Given the description of an element on the screen output the (x, y) to click on. 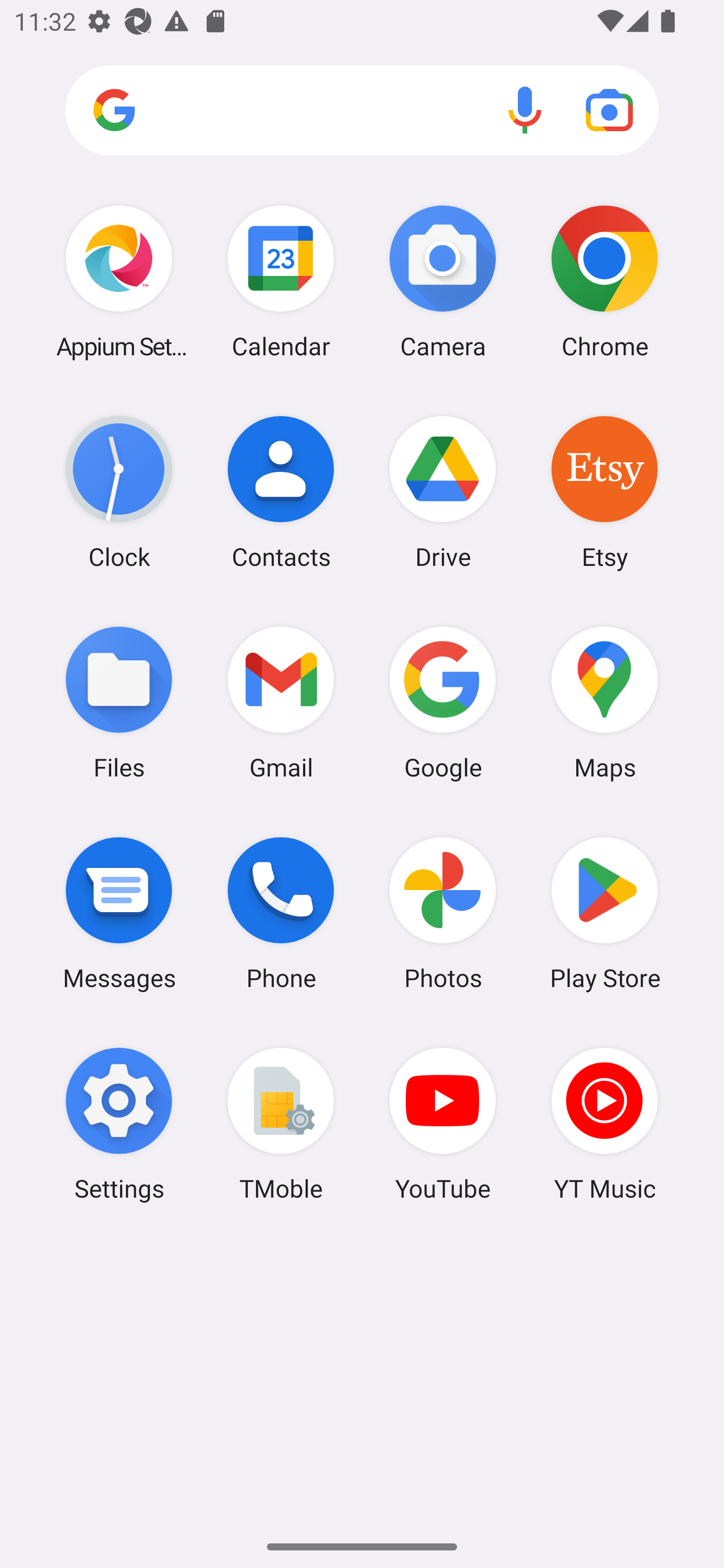
Search apps, web and more (361, 110)
Voice search (524, 109)
Google Lens (608, 109)
Appium Settings (118, 281)
Calendar (280, 281)
Camera (443, 281)
Chrome (604, 281)
Clock (118, 492)
Contacts (280, 492)
Drive (443, 492)
Etsy (604, 492)
Files (118, 702)
Gmail (280, 702)
Google (443, 702)
Maps (604, 702)
Messages (118, 913)
Phone (280, 913)
Photos (443, 913)
Play Store (604, 913)
Settings (118, 1124)
TMoble (280, 1124)
YouTube (443, 1124)
YT Music (604, 1124)
